Given the description of an element on the screen output the (x, y) to click on. 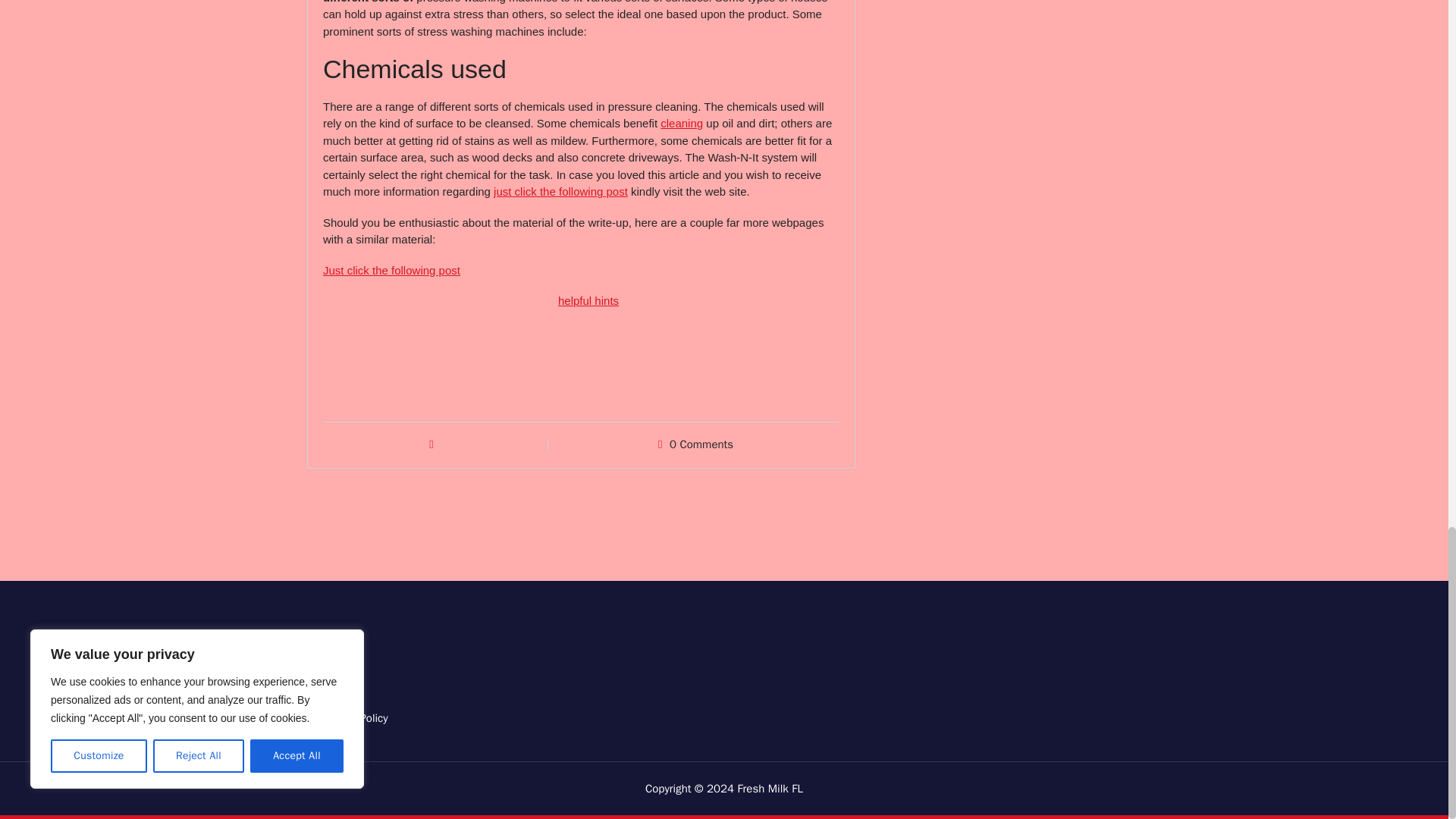
helpful hints (587, 300)
cleaning (682, 123)
just click the following post (560, 191)
0 Comments (701, 444)
Just click the following post (391, 269)
